Given the description of an element on the screen output the (x, y) to click on. 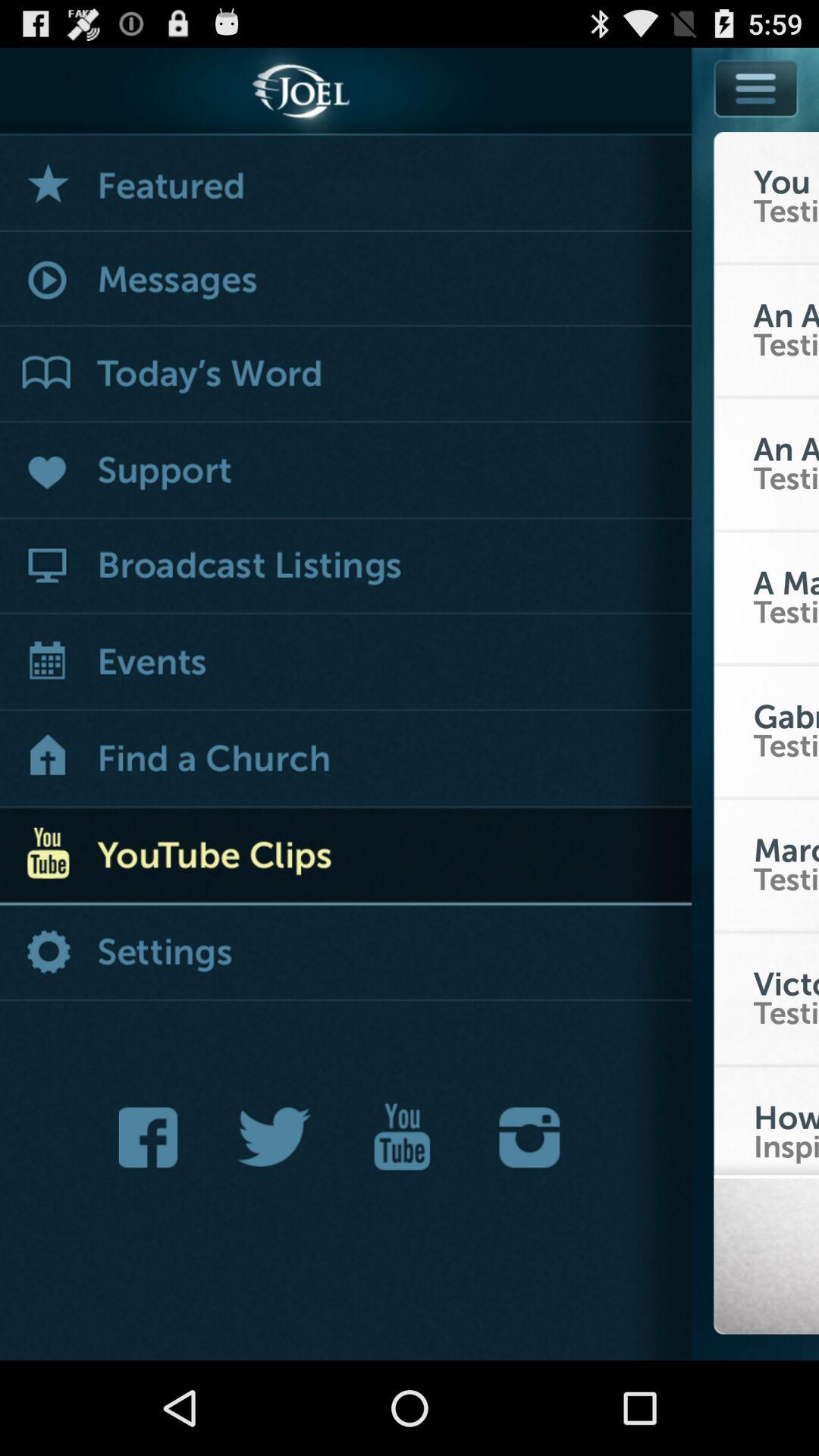
go to youtube page (401, 1137)
